Given the description of an element on the screen output the (x, y) to click on. 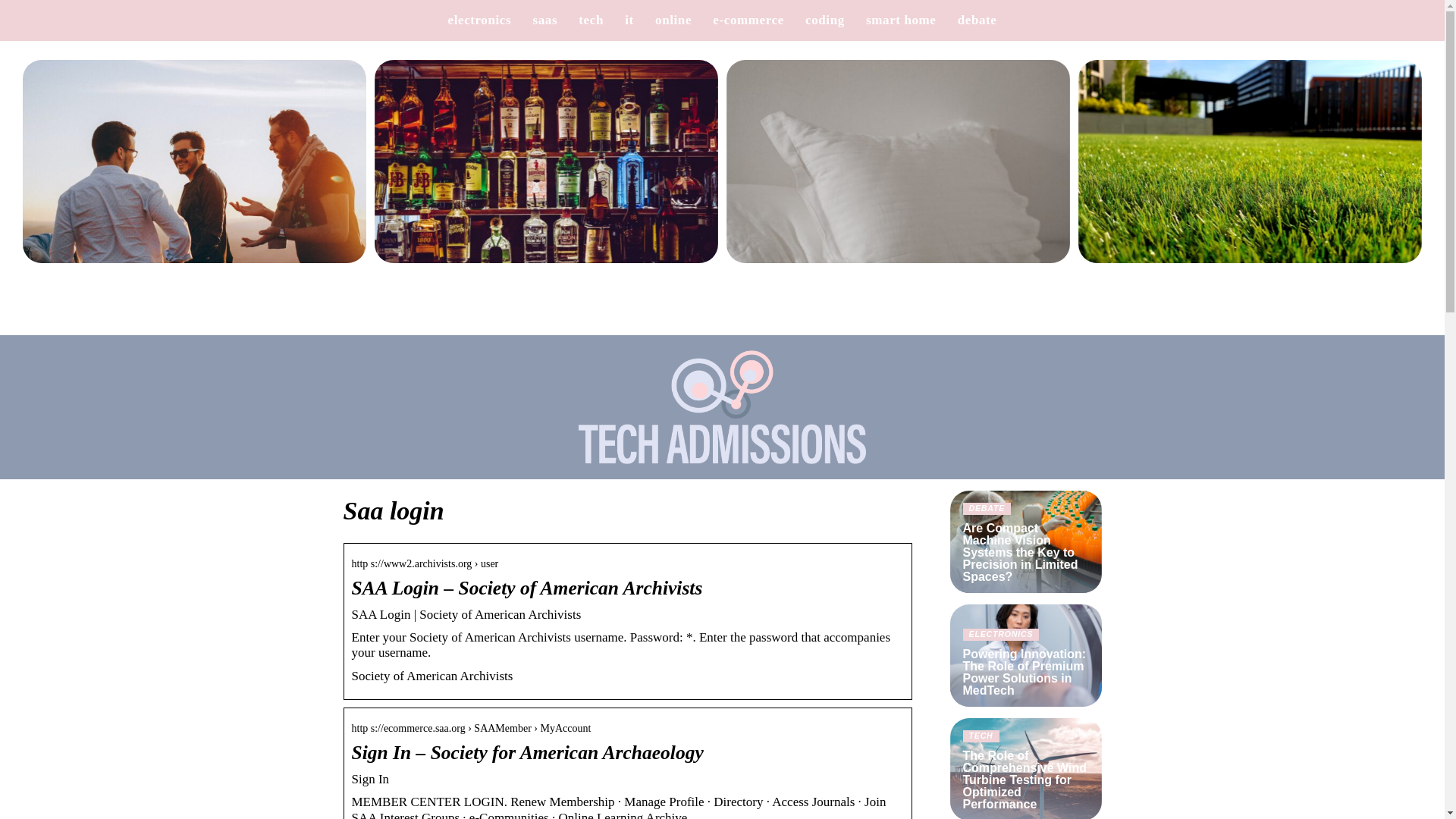
electronics (480, 20)
Buy adult toys in good quality discreetly and easily online (898, 172)
debate (977, 20)
smart home (901, 20)
How to have the perfect mens night out (194, 172)
Therefore, it can make sense to choose rolling grass (1250, 172)
saas (544, 20)
e-commerce (748, 20)
You must have these drinks in your bar cupboard (545, 172)
coding (824, 20)
tech (591, 20)
online (673, 20)
